Given the description of an element on the screen output the (x, y) to click on. 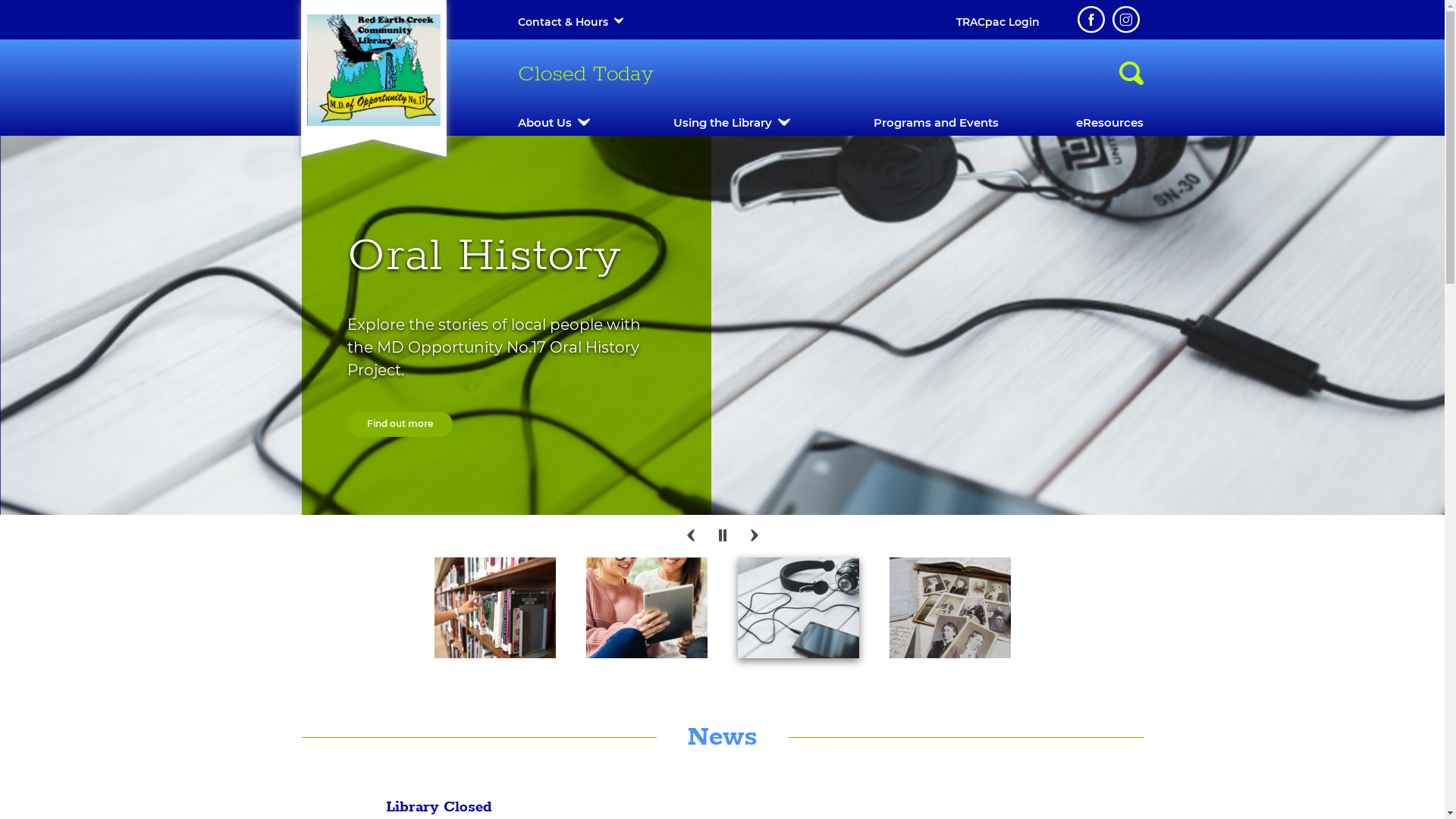
TRACpac Login Element type: text (996, 21)
eResources Element type: text (1108, 122)
Facebook Element type: hover (1090, 19)
Programs and Events Element type: text (935, 122)
About Us Element type: text (544, 122)
Red Earth Creek Community Library Element type: hover (372, 69)
Find out more Element type: text (354, 430)
Using the Library Element type: text (722, 122)
Instagram Element type: hover (1125, 19)
Contact & Hours Element type: text (562, 21)
